Given the description of an element on the screen output the (x, y) to click on. 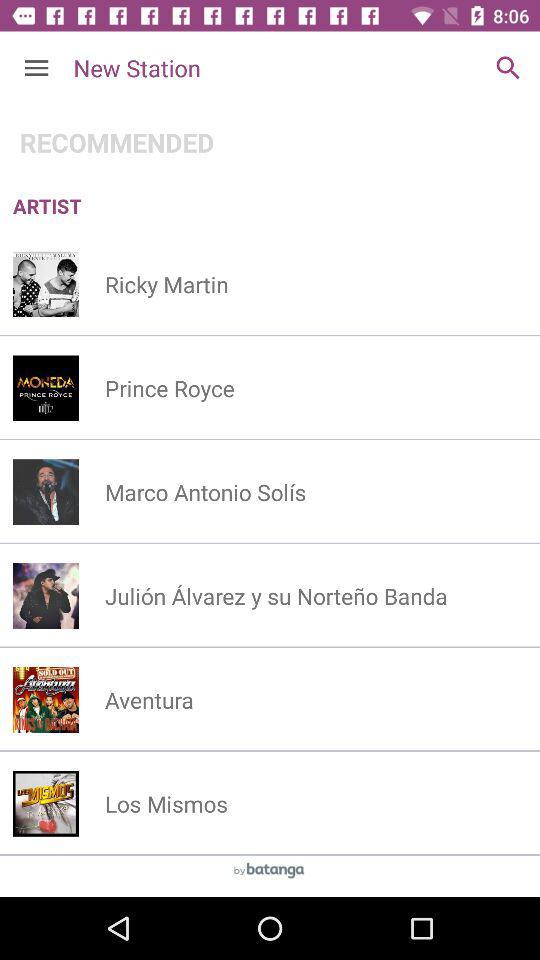
open the item to the left of new station icon (36, 68)
